Given the description of an element on the screen output the (x, y) to click on. 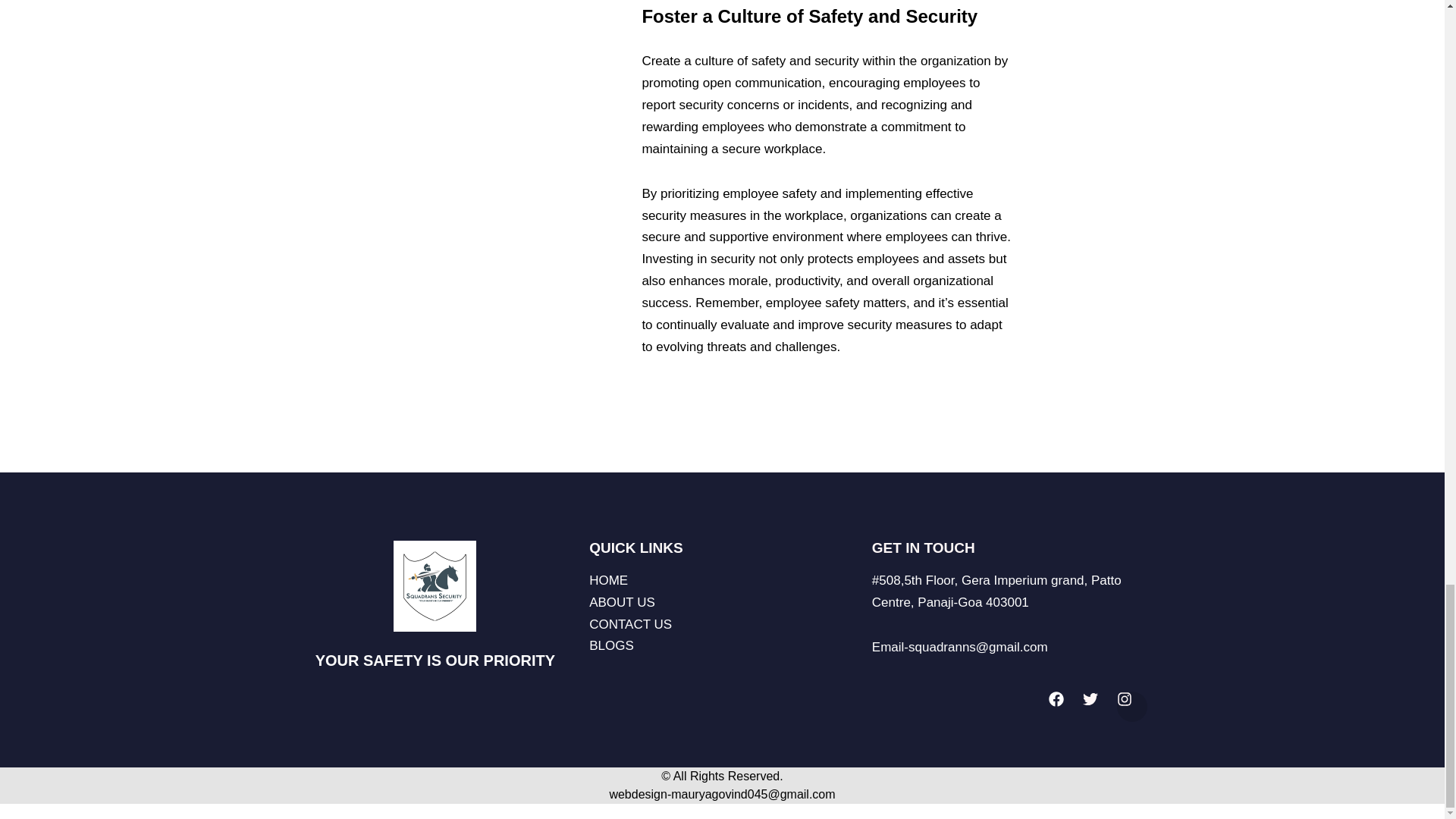
CONTACT US (726, 625)
ABOUT US (726, 603)
HOME (726, 581)
